Given the description of an element on the screen output the (x, y) to click on. 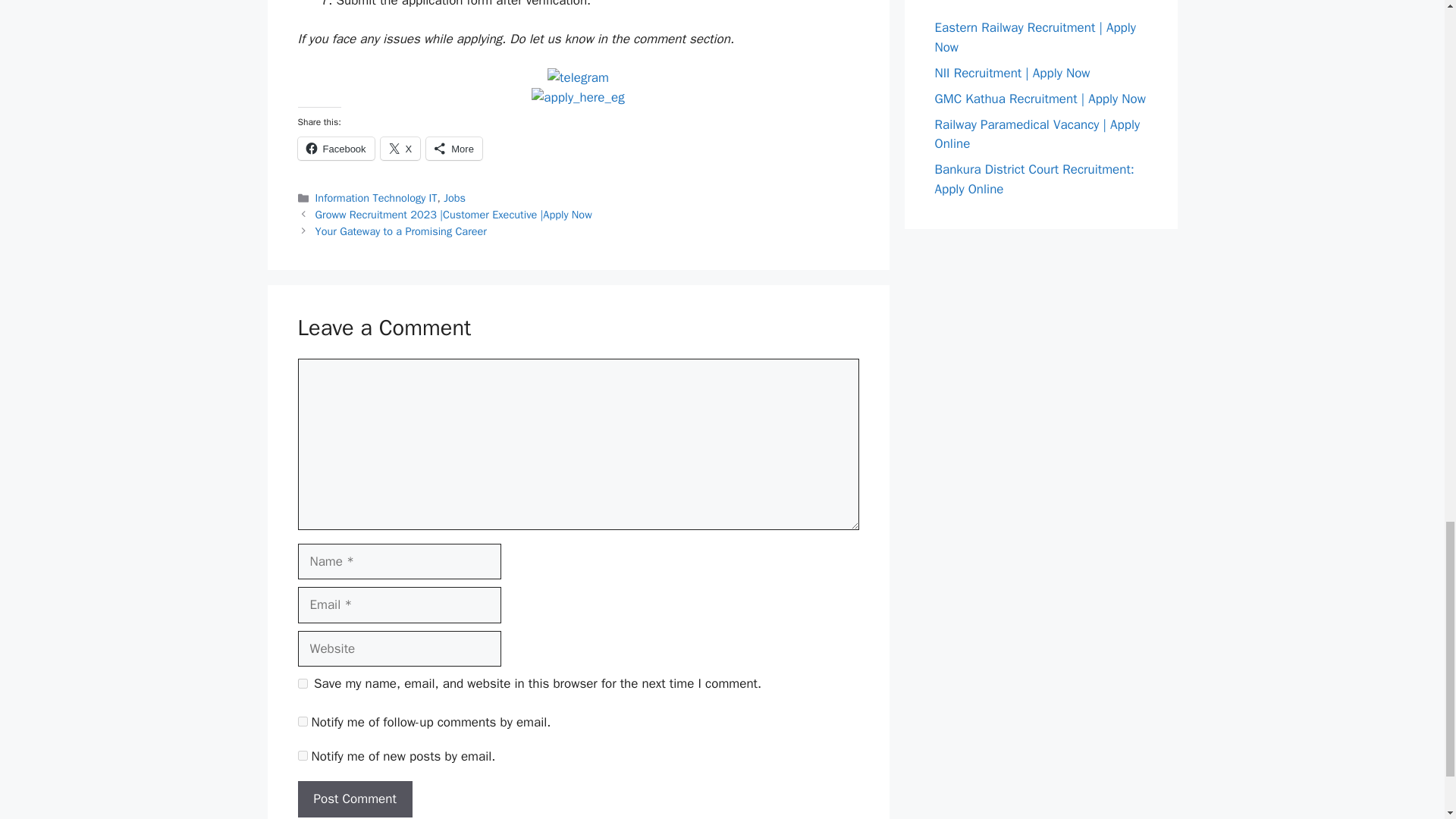
X (400, 147)
Post Comment (354, 799)
subscribe (302, 755)
subscribe (302, 721)
yes (302, 683)
Facebook (335, 147)
Click to share on X (400, 147)
Click to share on Facebook (335, 147)
More (453, 147)
